Given the description of an element on the screen output the (x, y) to click on. 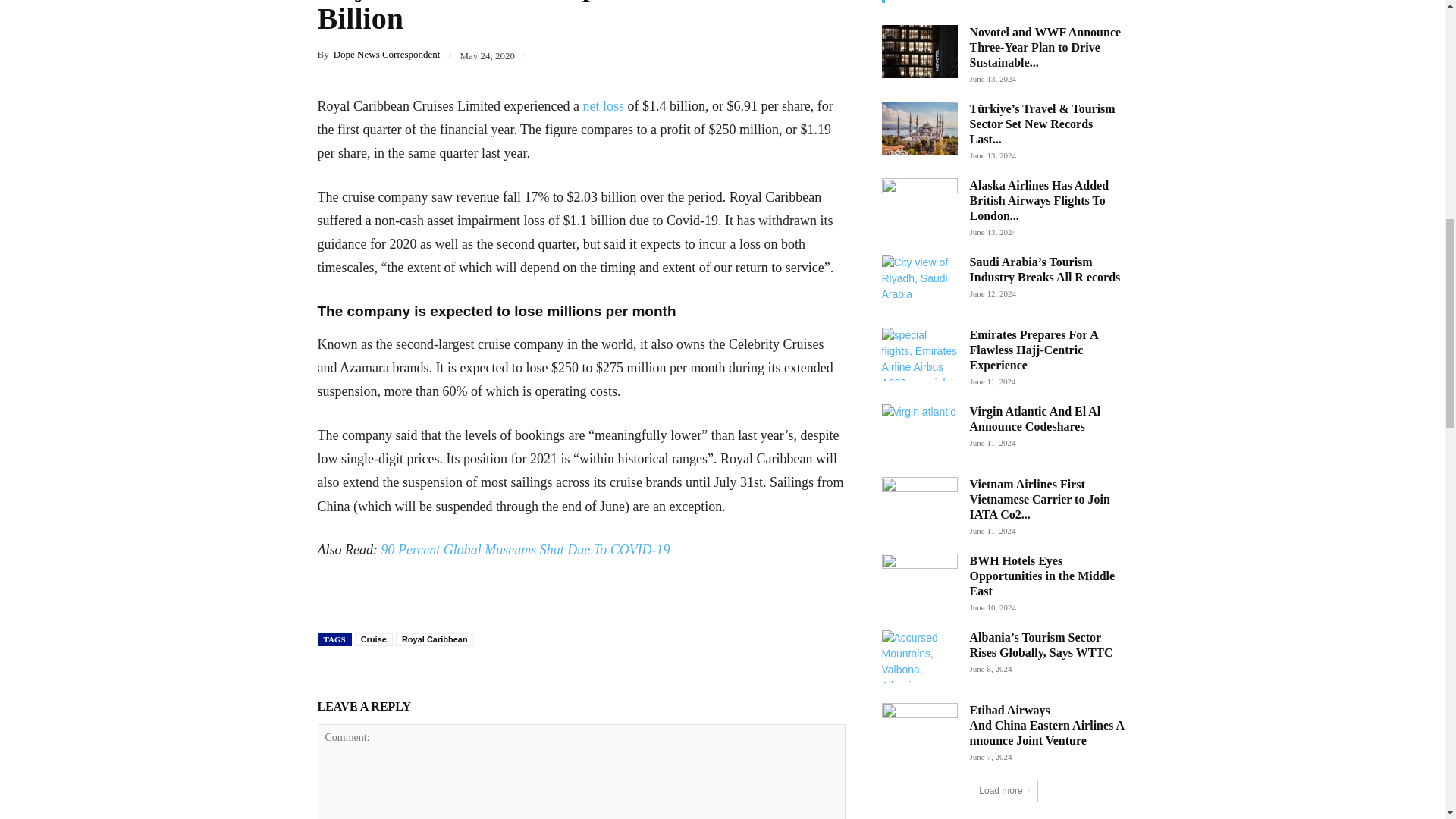
90 Percent Global Museums Shut Due To COVID-19 (524, 549)
Dope News Correspondent (387, 53)
net loss (603, 105)
Cruise (374, 639)
Royal Caribbean (435, 639)
